Given the description of an element on the screen output the (x, y) to click on. 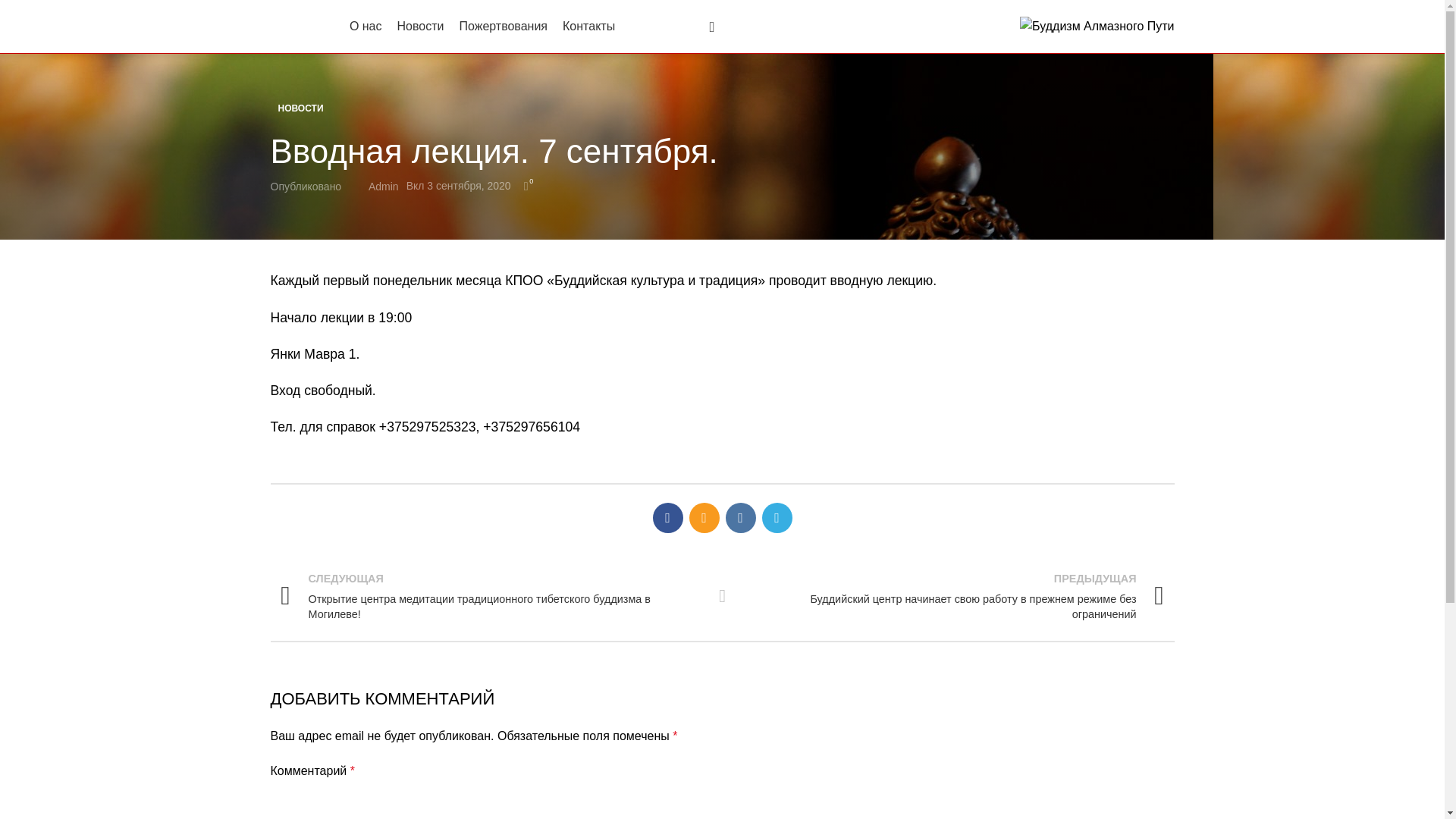
Admin Element type: text (383, 186)
0 Element type: text (525, 186)
